Given the description of an element on the screen output the (x, y) to click on. 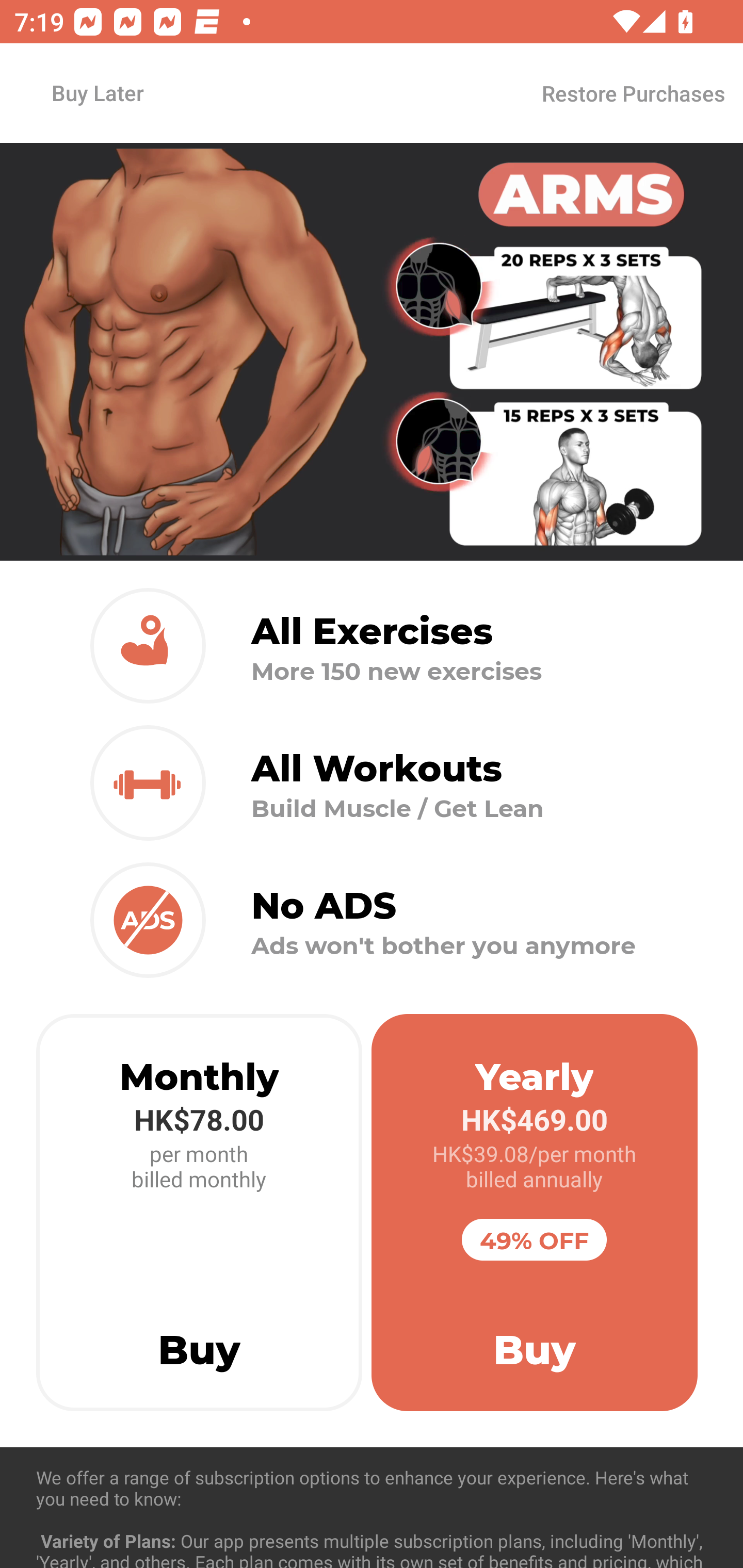
Restore Purchases (632, 92)
Buy Later (96, 92)
Monthly HK$78.00 per month
billed monthly Buy (199, 1212)
